Given the description of an element on the screen output the (x, y) to click on. 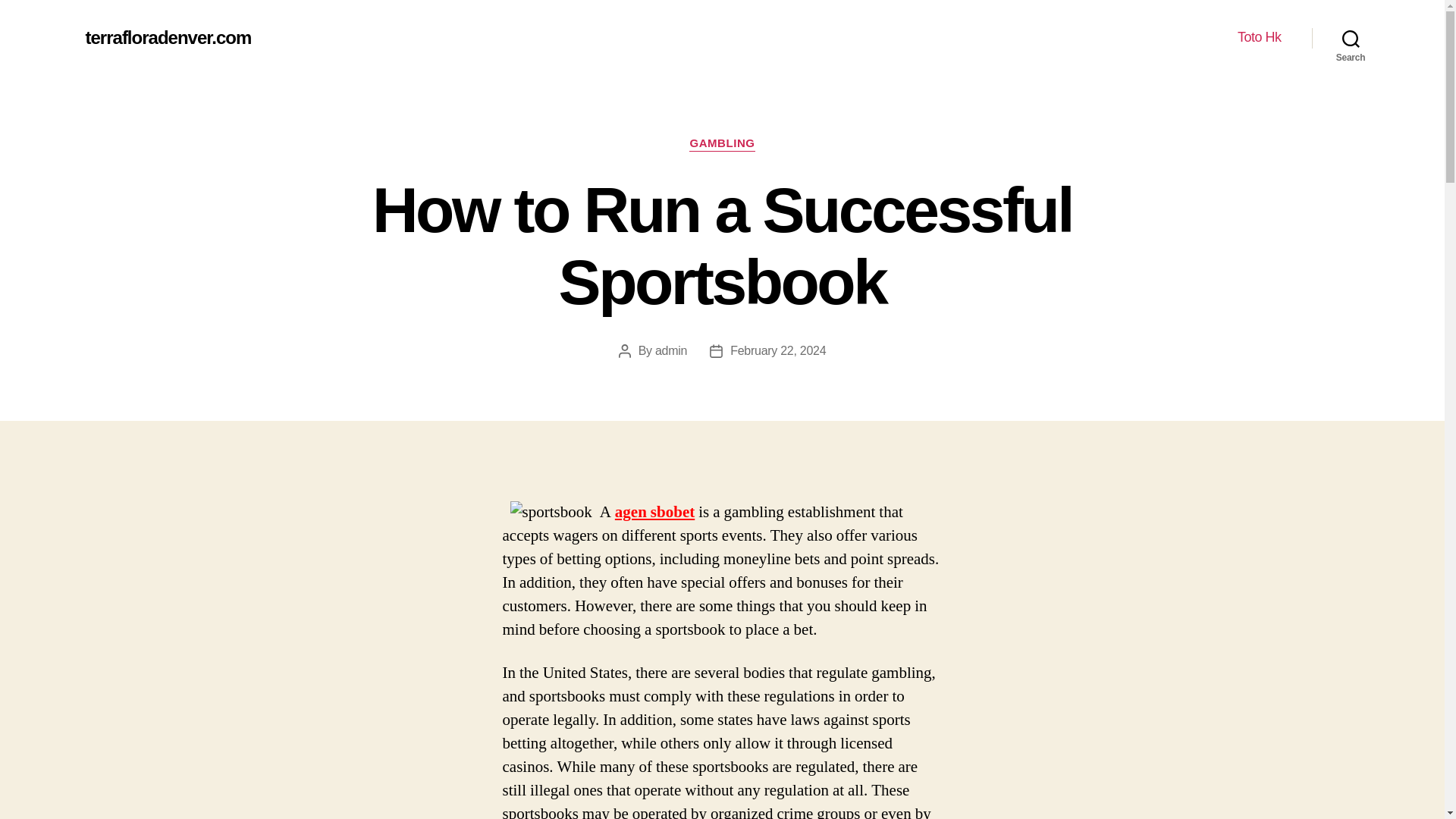
February 22, 2024 (777, 350)
admin (671, 350)
GAMBLING (721, 143)
Toto Hk (1259, 37)
terrafloradenver.com (167, 37)
agen sbobet (654, 512)
Search (1350, 37)
